Given the description of an element on the screen output the (x, y) to click on. 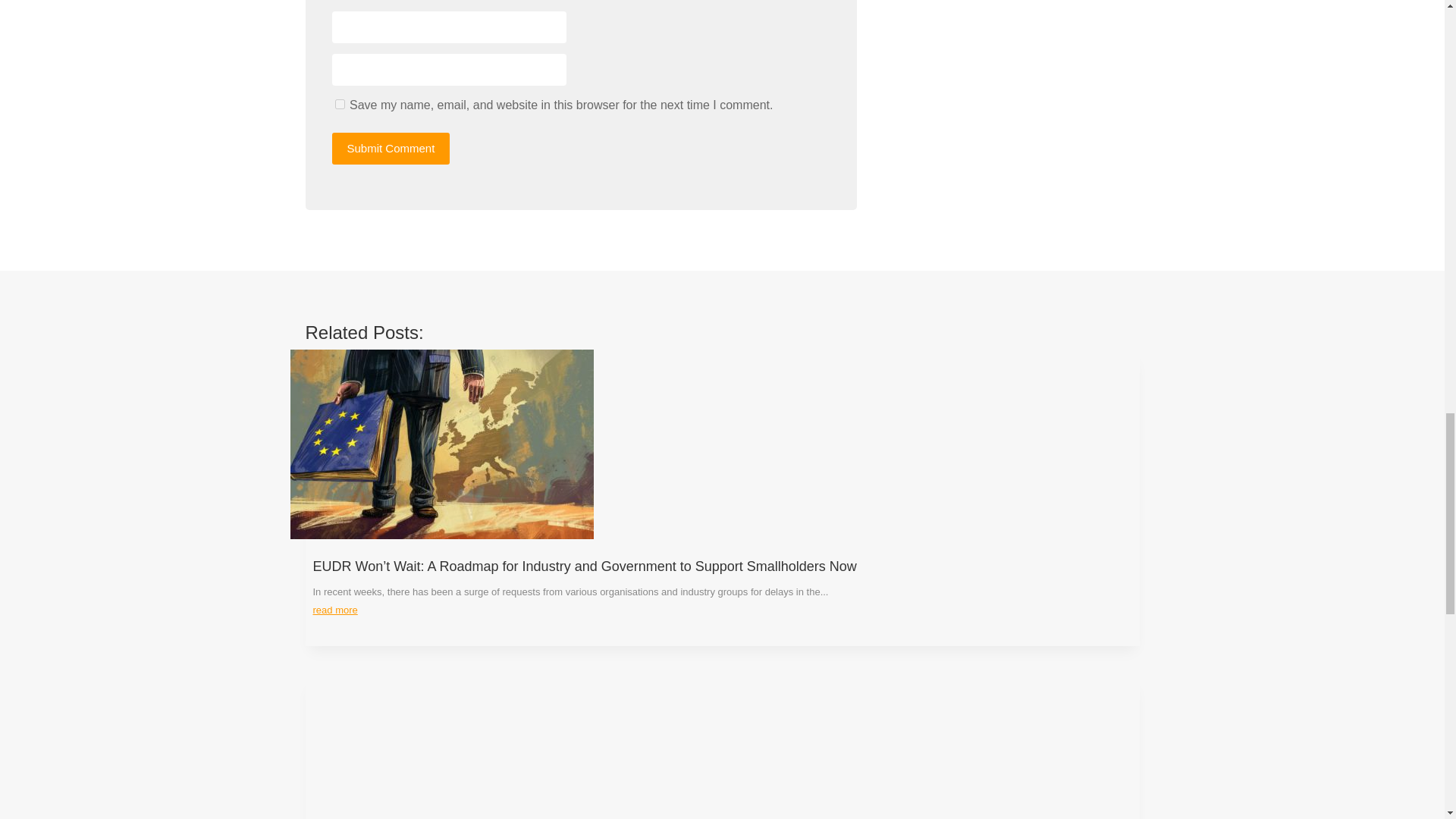
Submit Comment (390, 148)
yes (339, 103)
read more (334, 609)
